Given the description of an element on the screen output the (x, y) to click on. 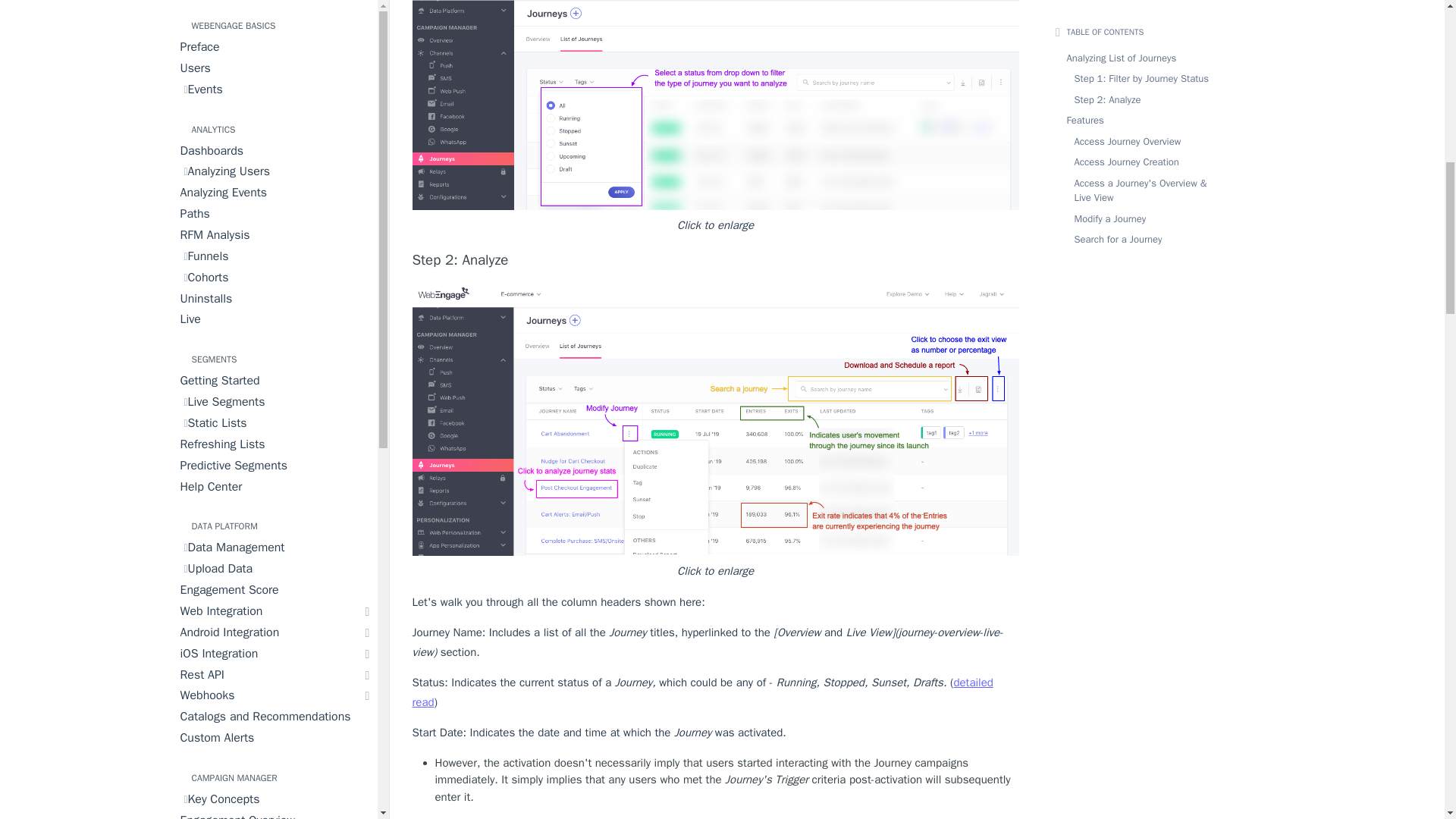
Step 2: Analyze (715, 260)
list-of-journey-filter.png (715, 104)
